Given the description of an element on the screen output the (x, y) to click on. 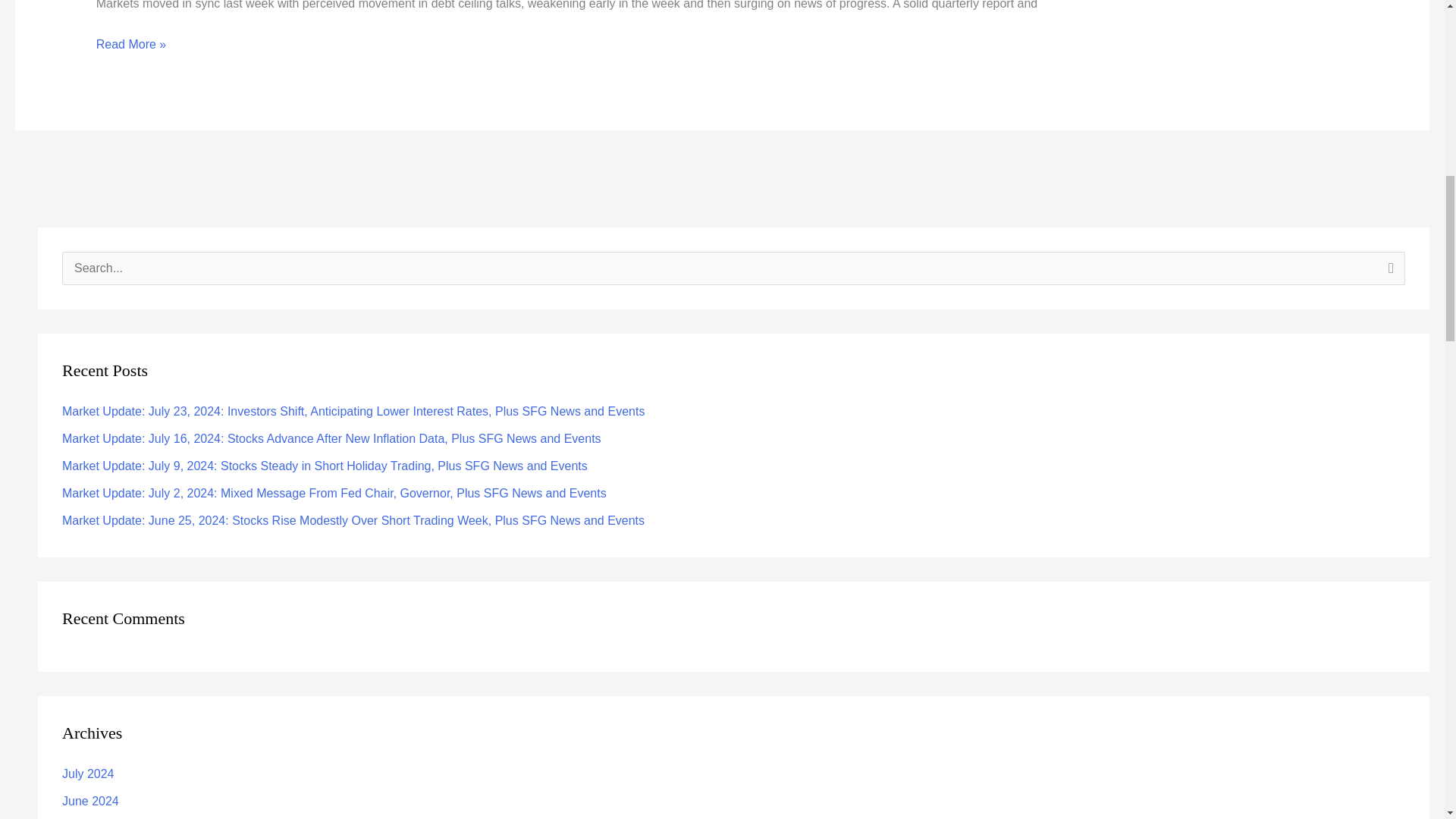
July 2024 (88, 773)
June 2024 (90, 800)
